Given the description of an element on the screen output the (x, y) to click on. 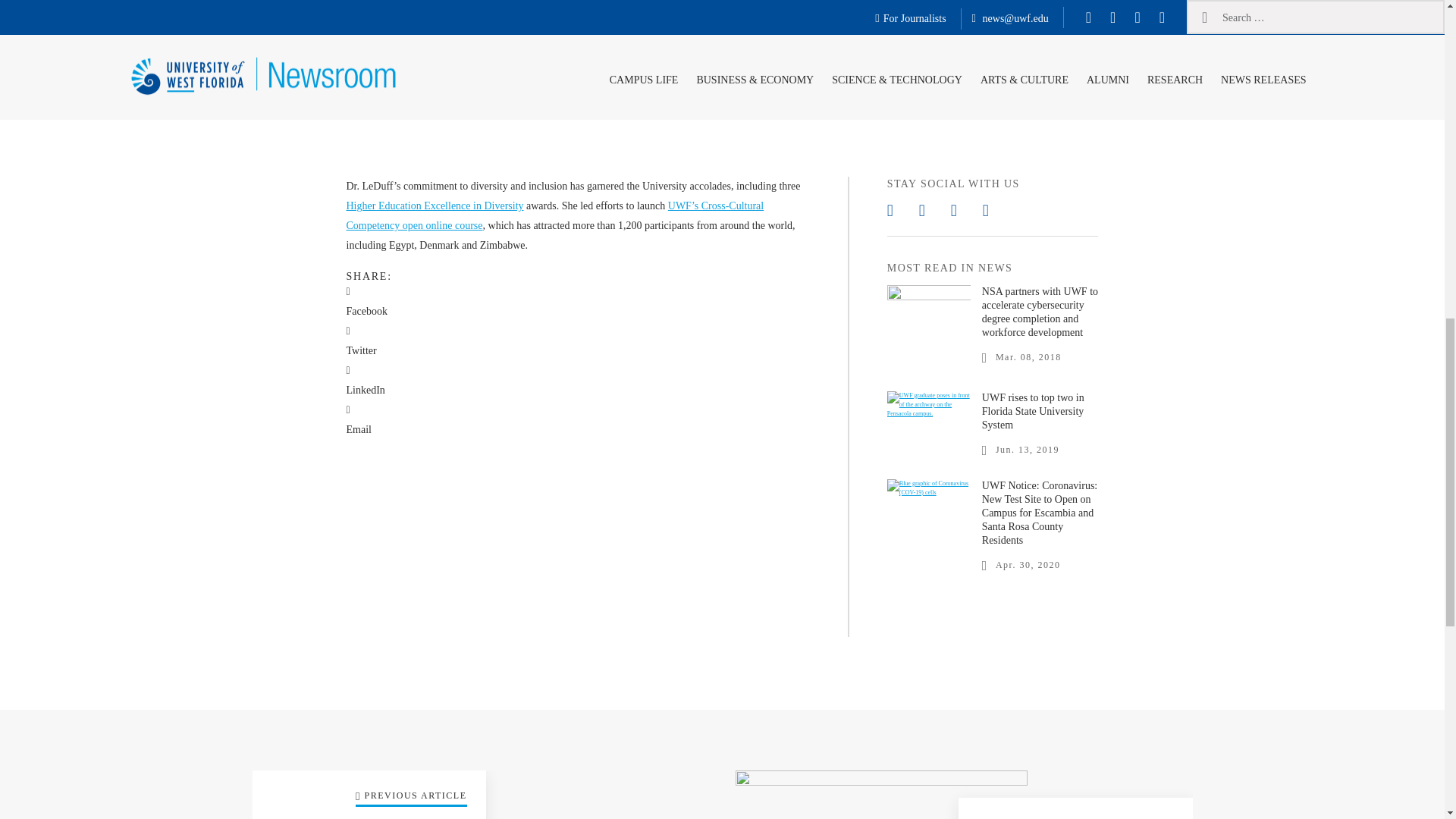
Higher Education Excellence in Diversity (434, 205)
UWF rises to top two in Florida State University System (928, 410)
UWF rises to top two in Florida State University System (1032, 411)
